Given the description of an element on the screen output the (x, y) to click on. 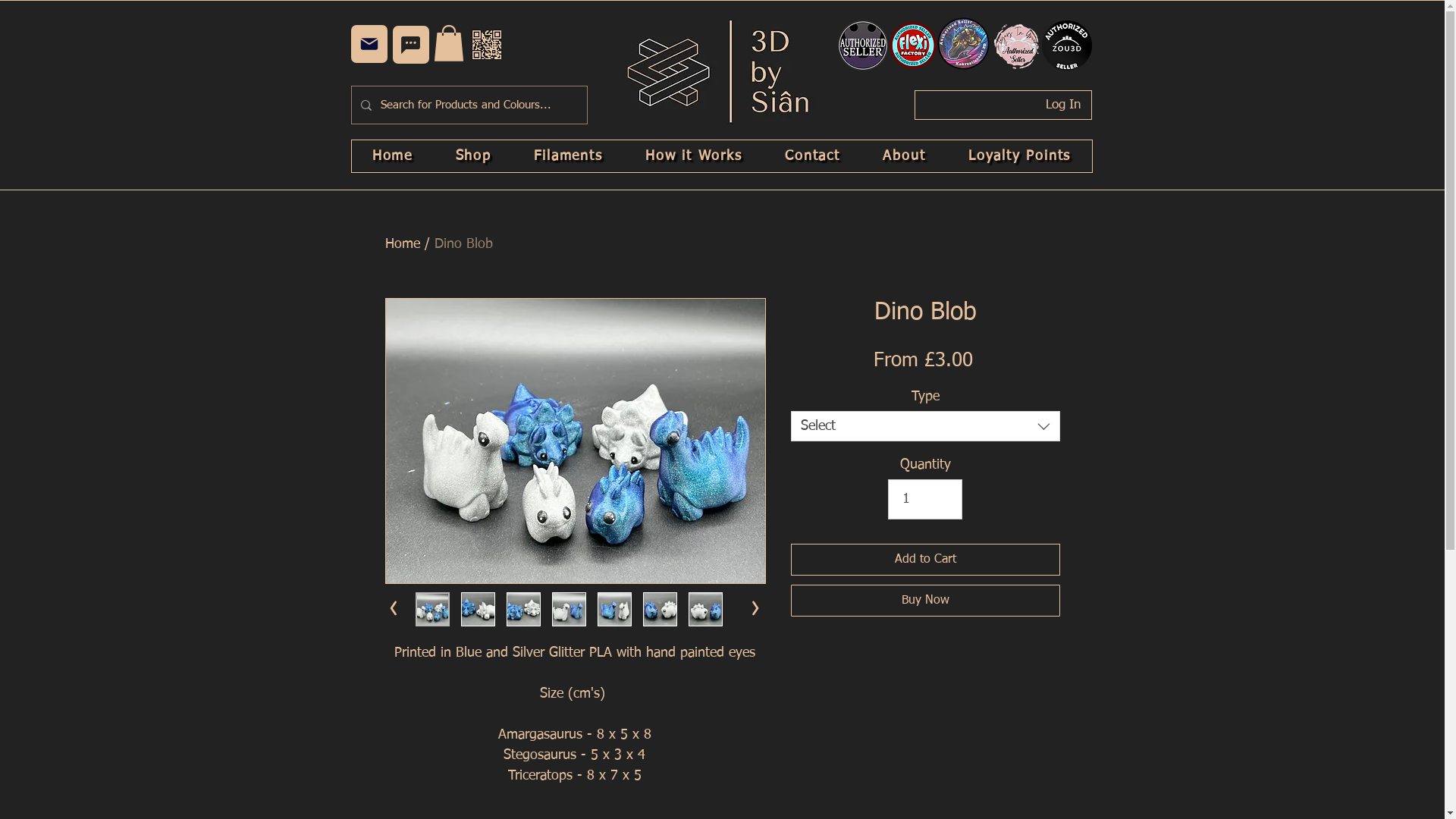
Shop Element type: text (472, 156)
Add to Cart Element type: text (924, 559)
About Element type: text (904, 156)
How it Works Element type: text (693, 156)
Filaments Element type: text (568, 156)
Home Element type: text (392, 156)
Select Element type: text (924, 426)
Loyalty Points Element type: text (1019, 156)
Home Element type: text (402, 244)
0 Element type: text (448, 43)
Contact Element type: text (812, 156)
Log In Element type: text (1047, 105)
Buy Now Element type: text (924, 600)
